Given the description of an element on the screen output the (x, y) to click on. 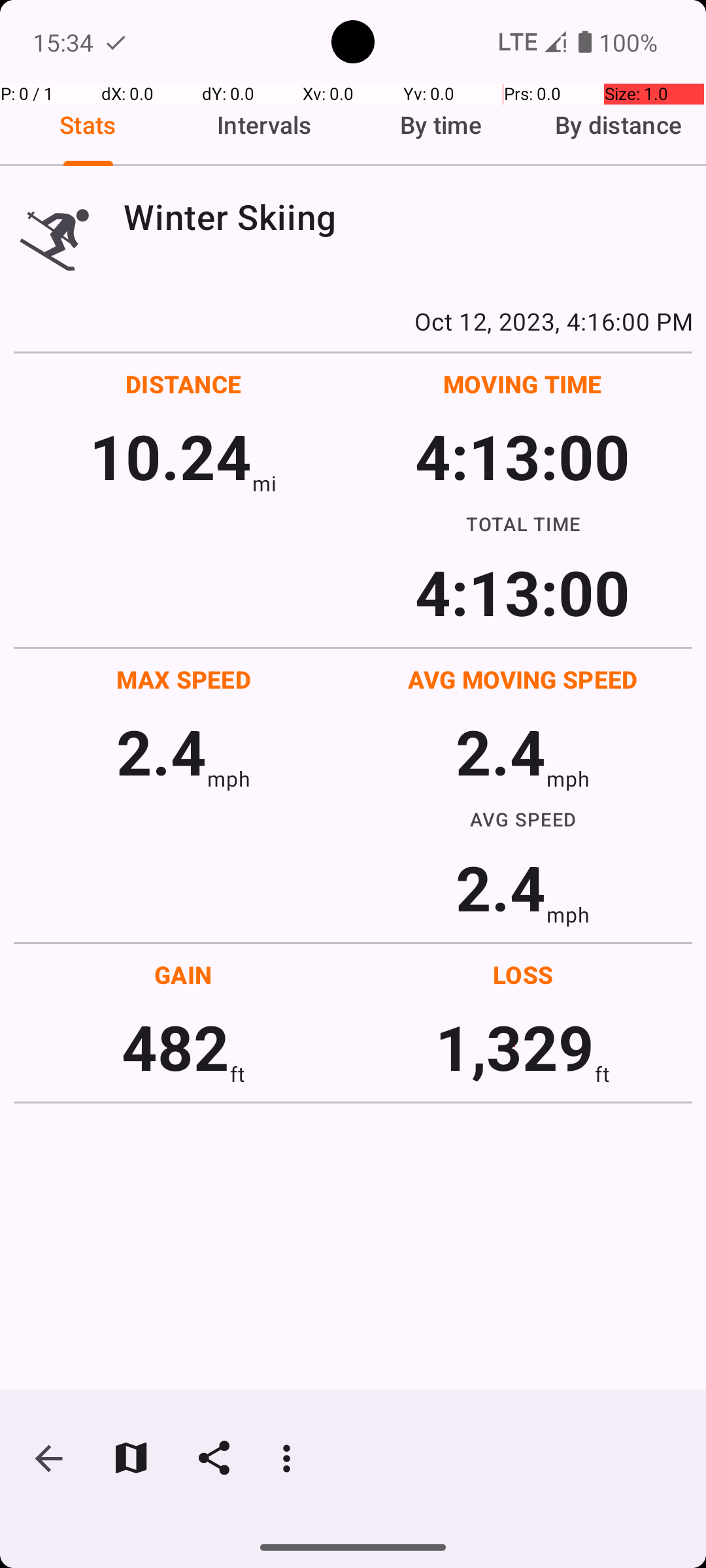
Winter Skiing Element type: android.widget.TextView (407, 216)
Oct 12, 2023, 4:16:00 PM Element type: android.widget.TextView (352, 320)
10.24 Element type: android.widget.TextView (170, 455)
4:13:00 Element type: android.widget.TextView (522, 455)
2.4 Element type: android.widget.TextView (161, 750)
482 Element type: android.widget.TextView (175, 1045)
1,329 Element type: android.widget.TextView (514, 1045)
